Given the description of an element on the screen output the (x, y) to click on. 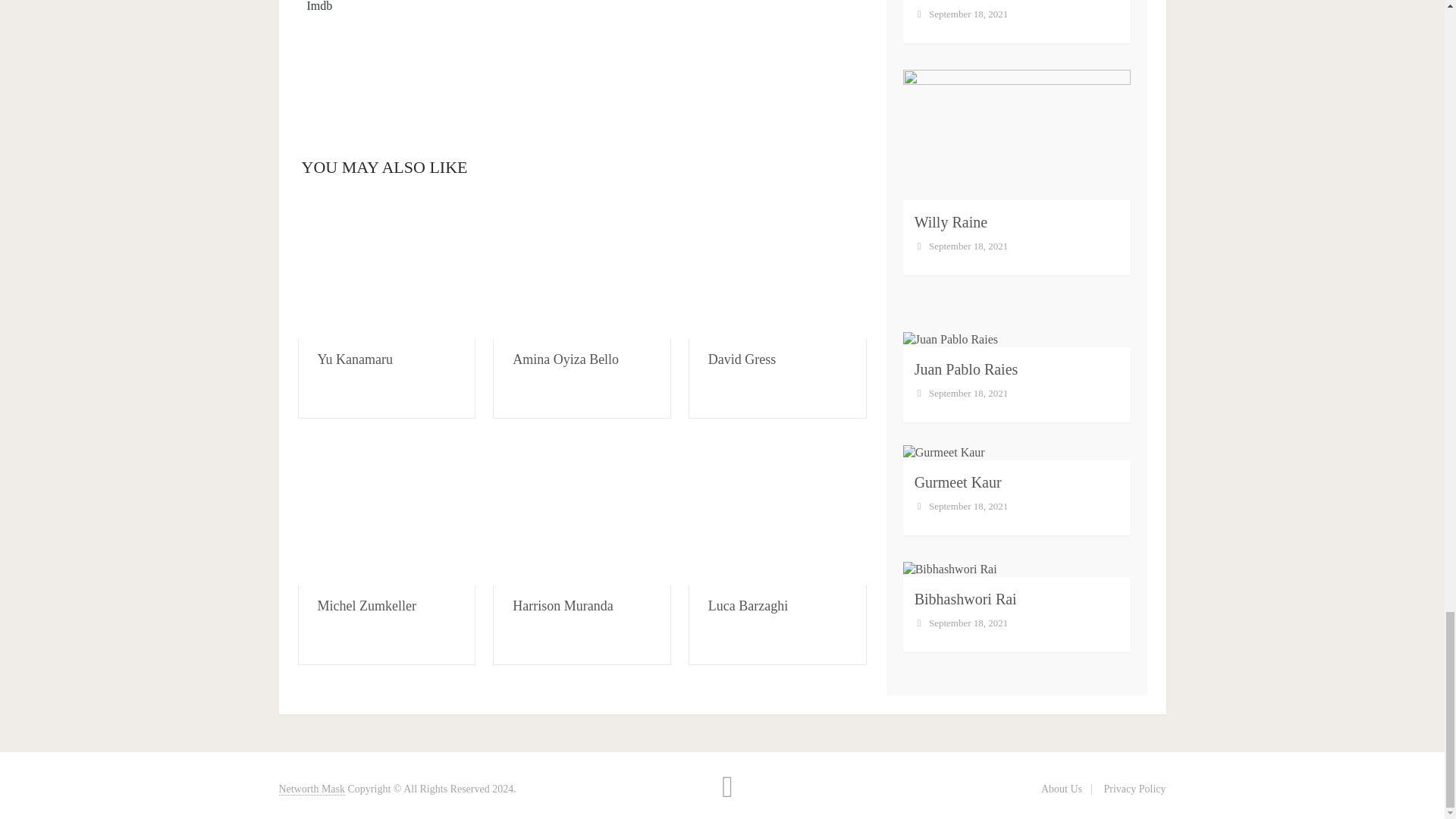
Yu Kanamaru (386, 266)
Luca Barzaghi (747, 605)
Michel Zumkeller (386, 513)
Luca Barzaghi (777, 513)
Harrison Muranda (582, 513)
Amina Oyiza Bello (565, 359)
Amina Oyiza Bello (582, 266)
Networth Mask (312, 788)
Michel Zumkeller (365, 605)
Corona Tracker (581, 70)
